Given the description of an element on the screen output the (x, y) to click on. 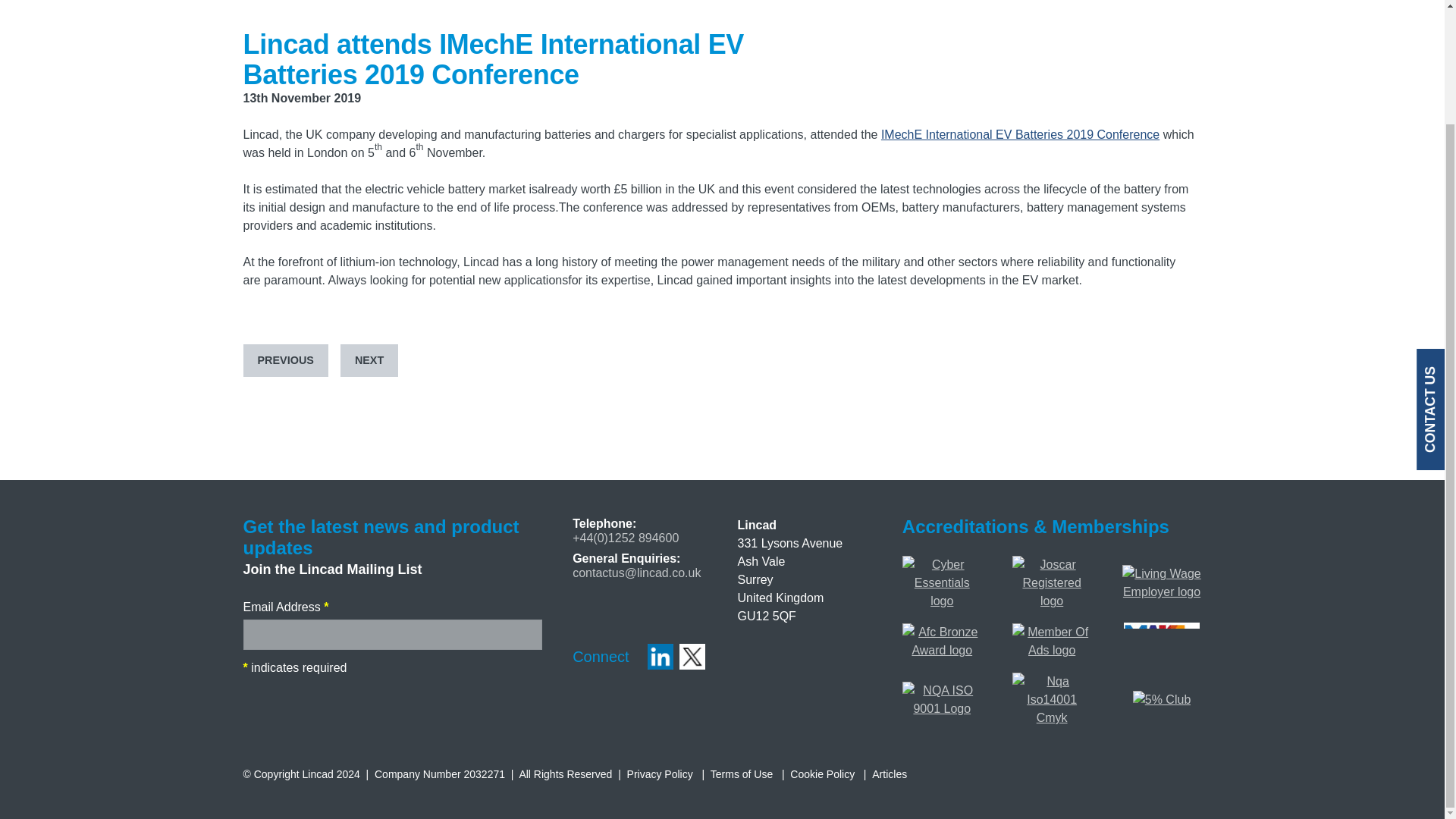
Make UK Defence (1161, 631)
Armed Forces Covenant (941, 631)
IMechE International EV Batteries 2019 Conference (1019, 133)
Cyber Essentials (941, 563)
Living Wage Foundation (1162, 573)
Joscar (1051, 563)
ADS (1051, 631)
